Given the description of an element on the screen output the (x, y) to click on. 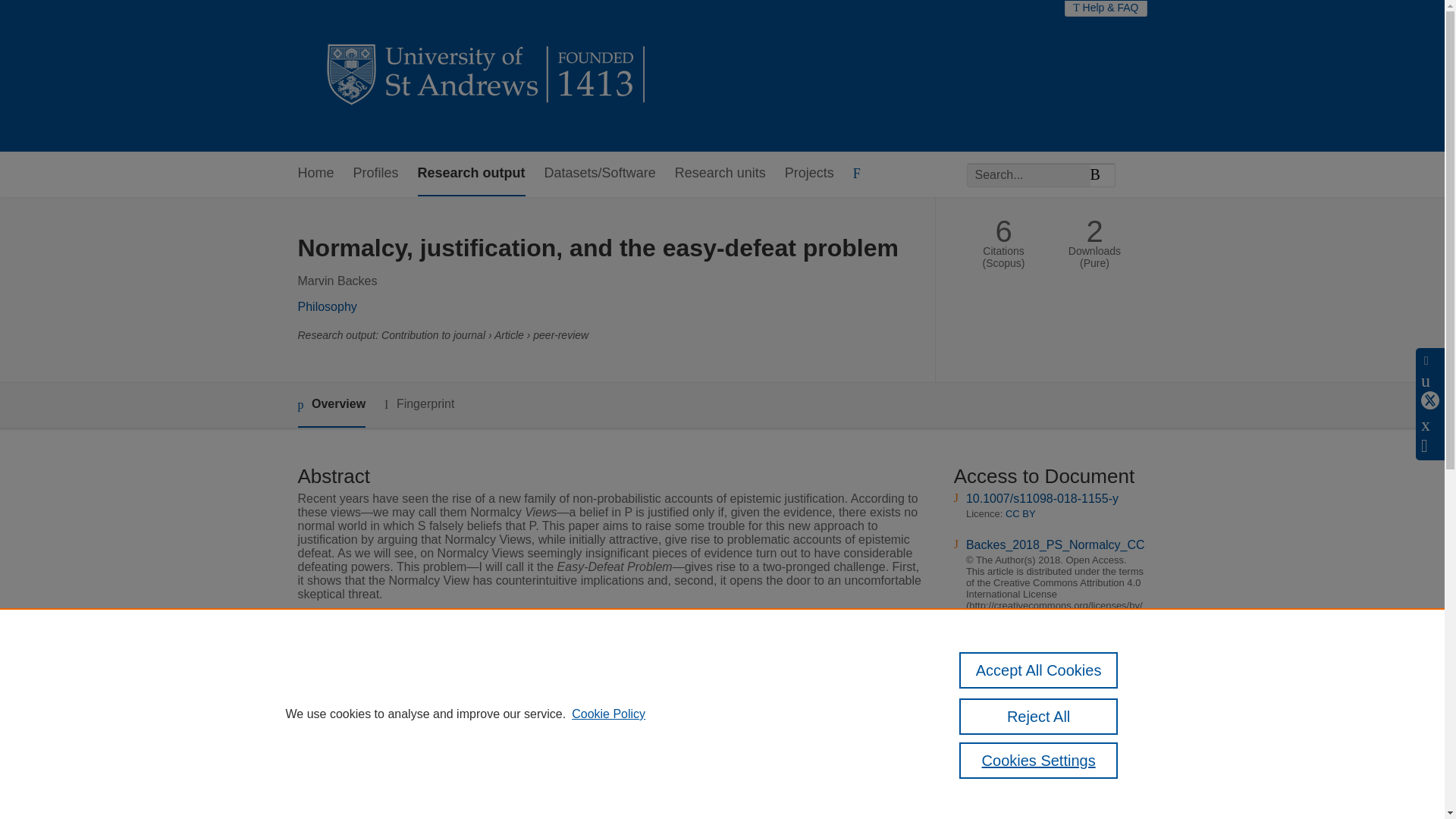
University of St Andrews Research Portal Home (487, 75)
CC BY (1020, 712)
Philosophy (326, 306)
Projects (809, 173)
Philosophical Studies (568, 667)
CC BY (1020, 513)
Fingerprint (419, 404)
Research units (720, 173)
Profiles (375, 173)
